Given the description of an element on the screen output the (x, y) to click on. 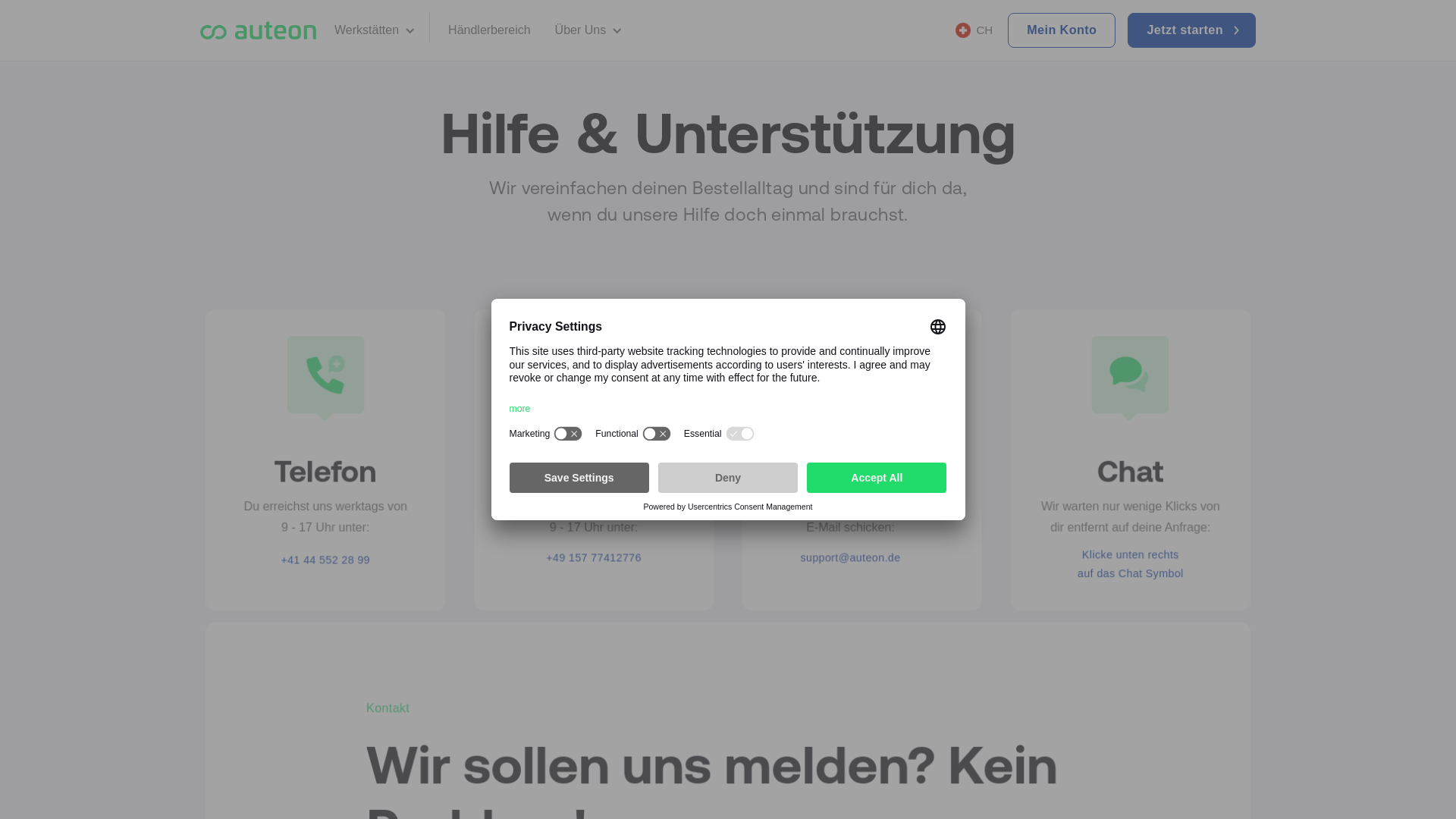
+49 157 77412776 Element type: text (594, 557)
Mein Konto Element type: text (1061, 29)
Jetzt starten Element type: text (1191, 29)
support@auteon.de Element type: text (850, 557)
